Given the description of an element on the screen output the (x, y) to click on. 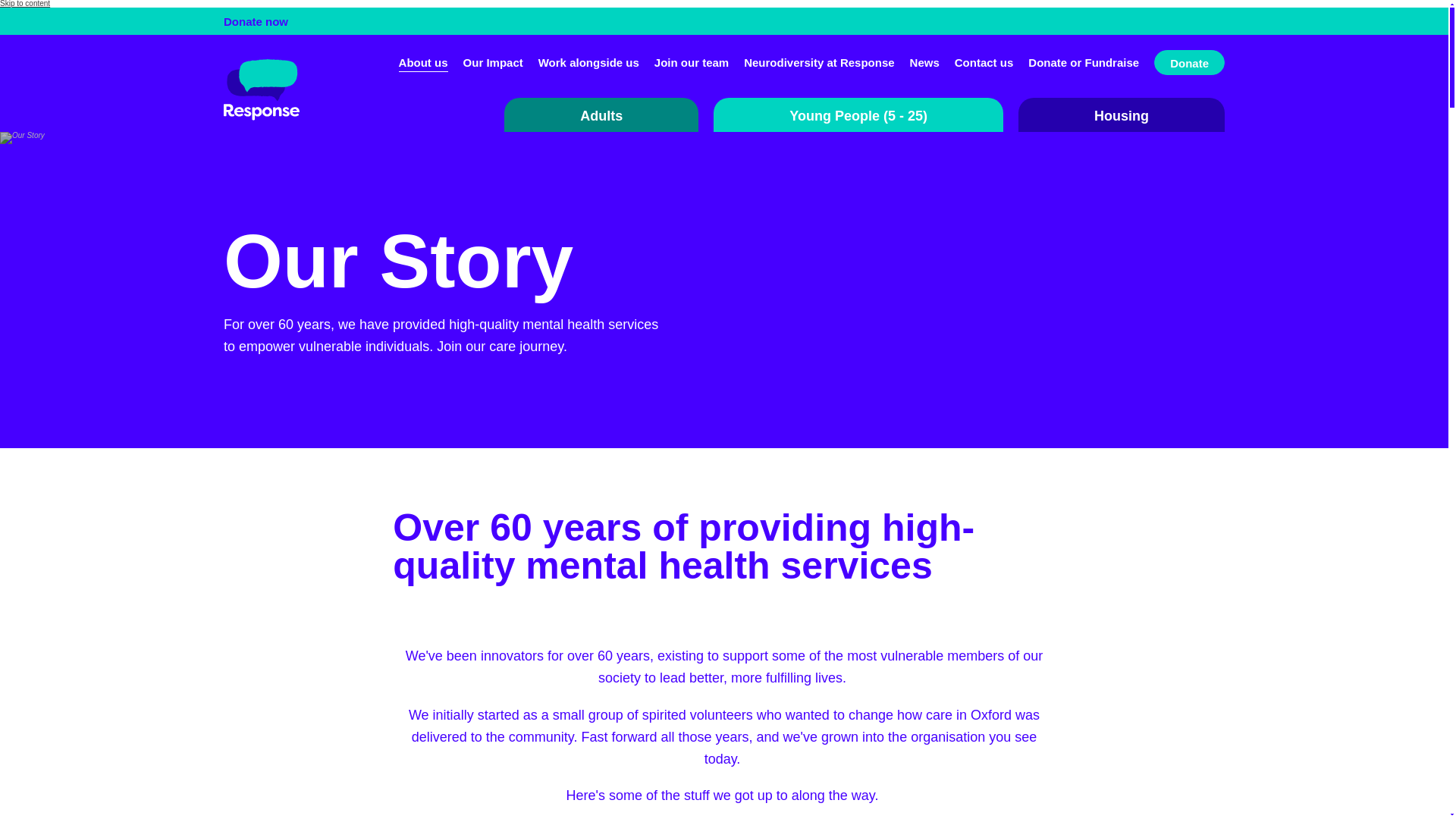
Our Impact (492, 62)
Join our team (691, 62)
Work alongside us (588, 62)
About us (423, 62)
Donate or Fundraise (1082, 62)
Donate now (724, 21)
Skip to content (24, 3)
Adults (600, 114)
Contact us (984, 62)
News (924, 62)
